Given the description of an element on the screen output the (x, y) to click on. 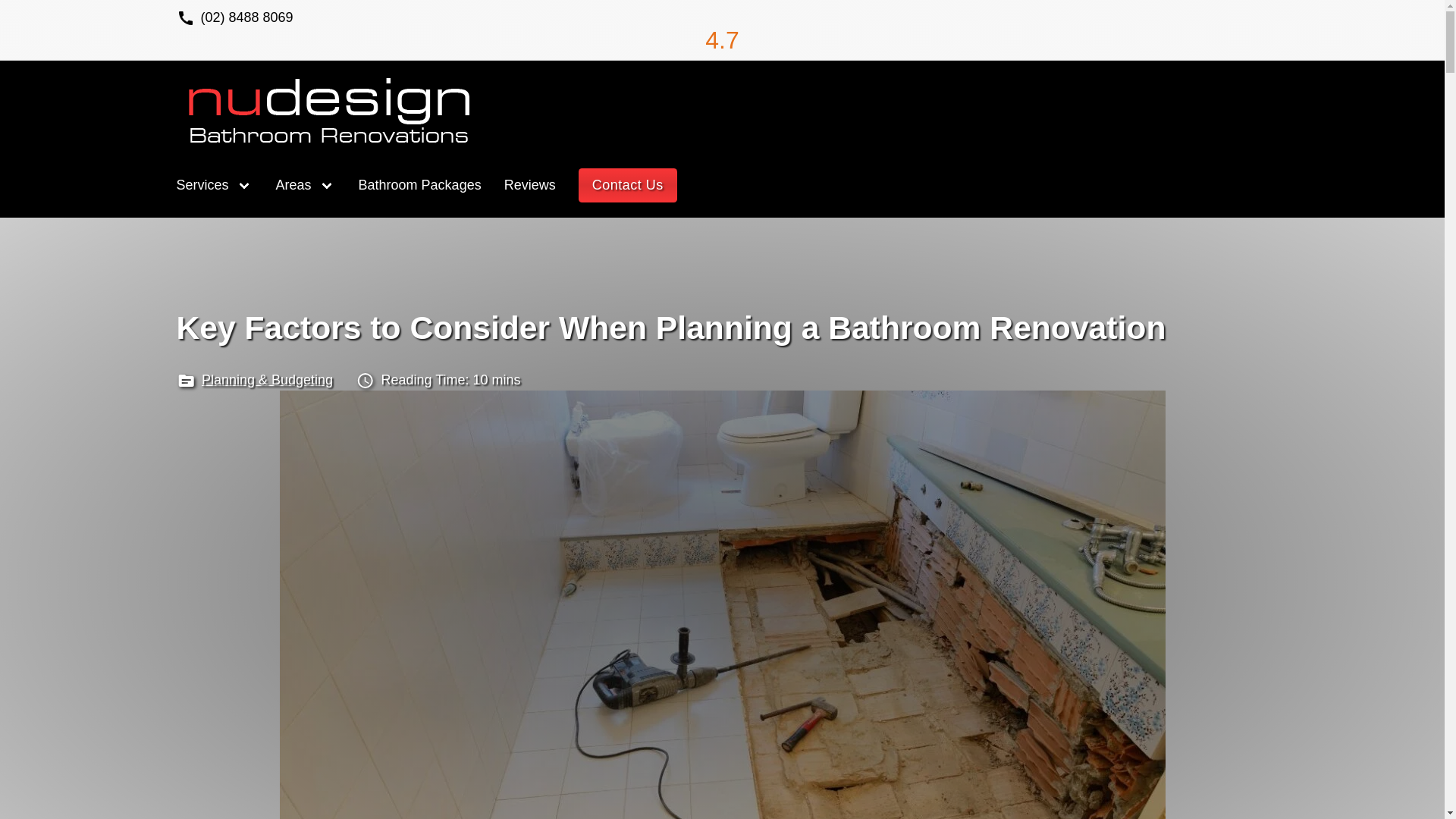
Services (202, 185)
Bathroom Packages (419, 185)
Contact Us (627, 185)
Areas (293, 185)
Reviews (529, 185)
